Given the description of an element on the screen output the (x, y) to click on. 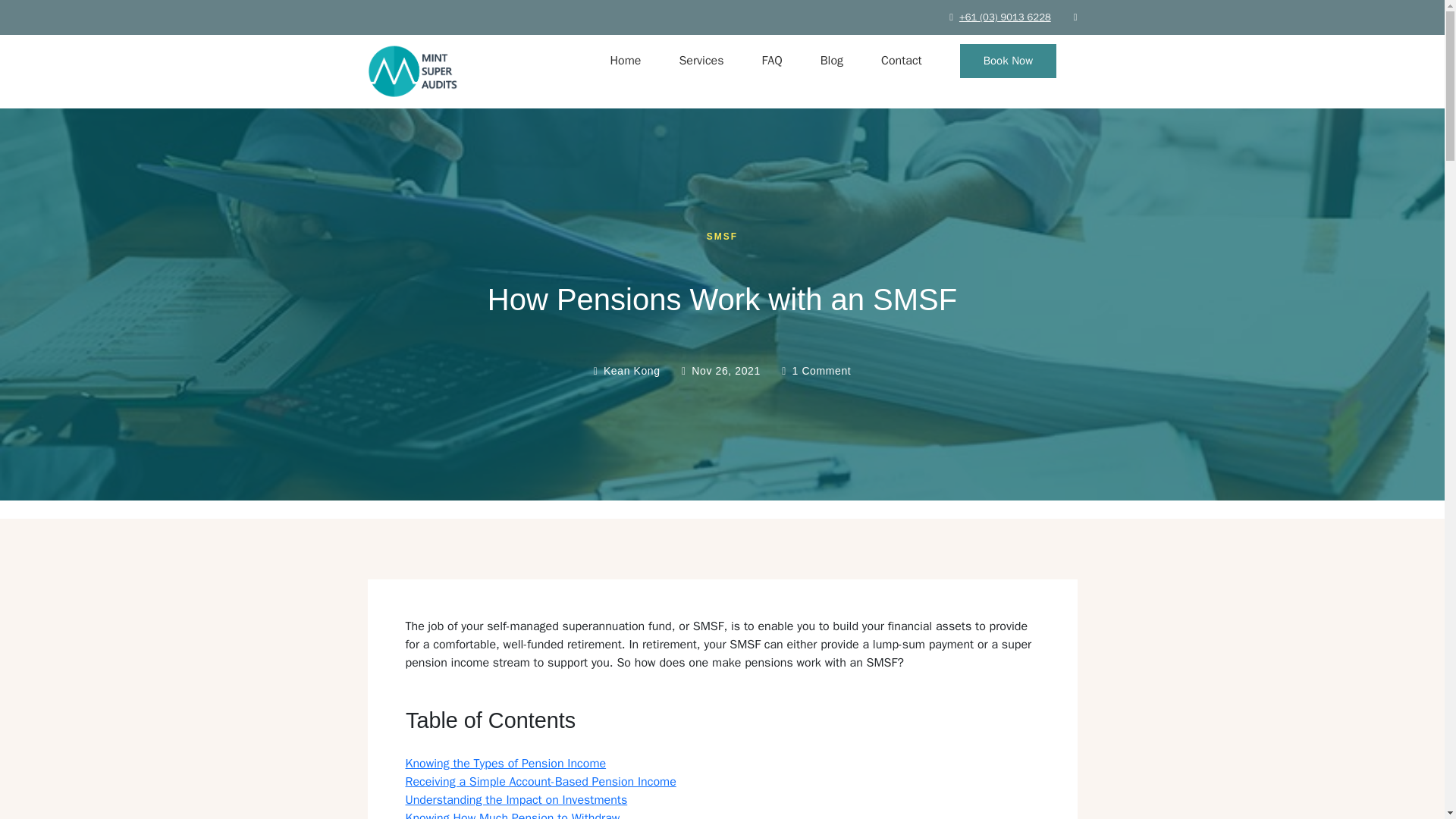
Knowing the Types of Pension Income (504, 762)
Home (625, 60)
FAQ (771, 60)
Services (700, 60)
Understanding the Impact on Investments (515, 798)
Contact (900, 60)
Knowing How Much Pension to Withdraw (512, 814)
Receiving a Simple Account-Based Pension Income (539, 780)
Mint Super Audits (413, 108)
Blog (832, 60)
Book Now (1008, 60)
